Given the description of an element on the screen output the (x, y) to click on. 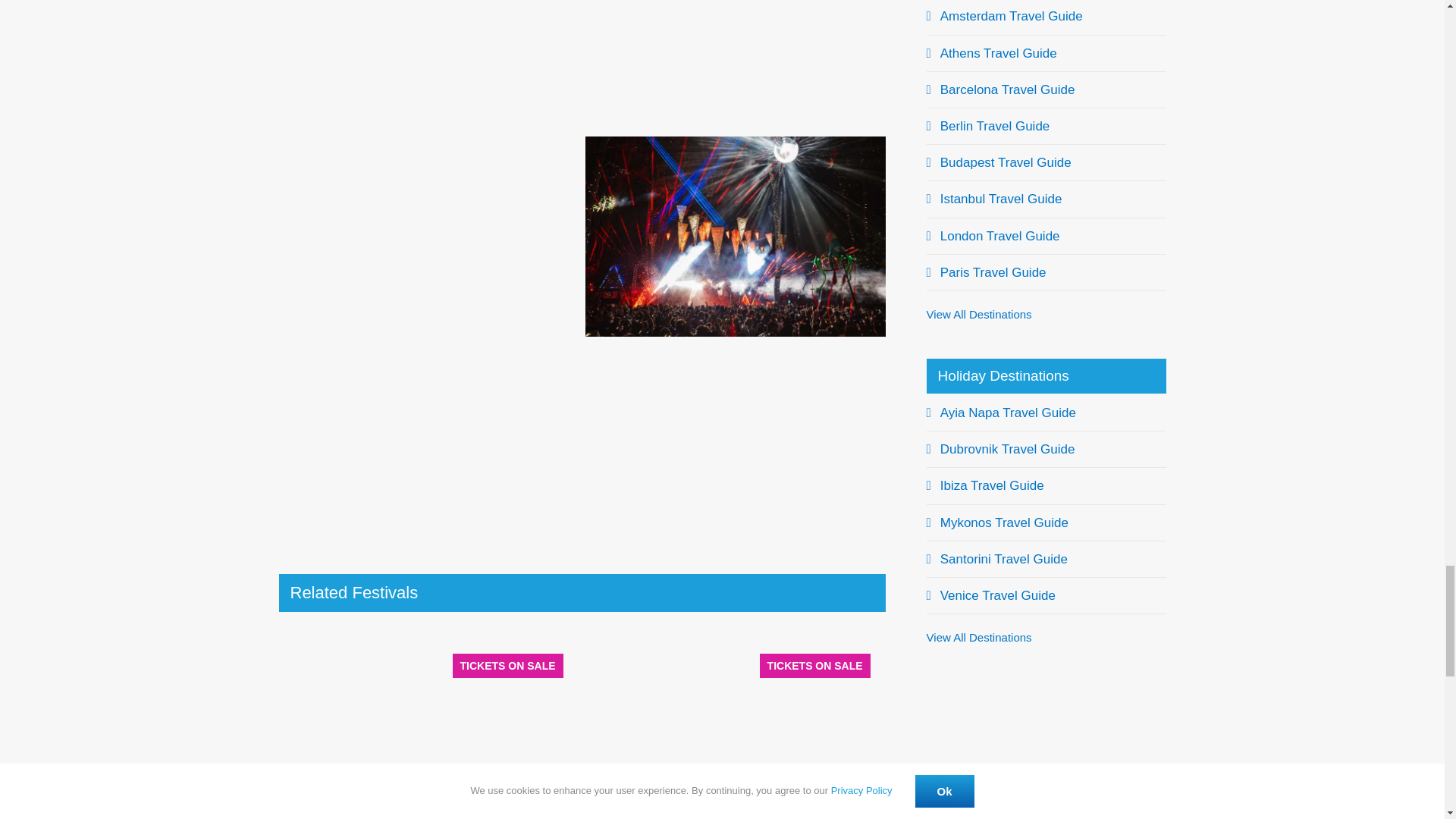
noisily-festival-stage-lights-show (735, 64)
noisily-festival-stage-colours (735, 442)
noisily-festival-stage-lights-fans-dancing (428, 64)
noisily-festival-fans-having-fun (428, 442)
noisily-festival-stage-laser-show (428, 235)
noisily-festival-fans-dancing (735, 235)
